Given the description of an element on the screen output the (x, y) to click on. 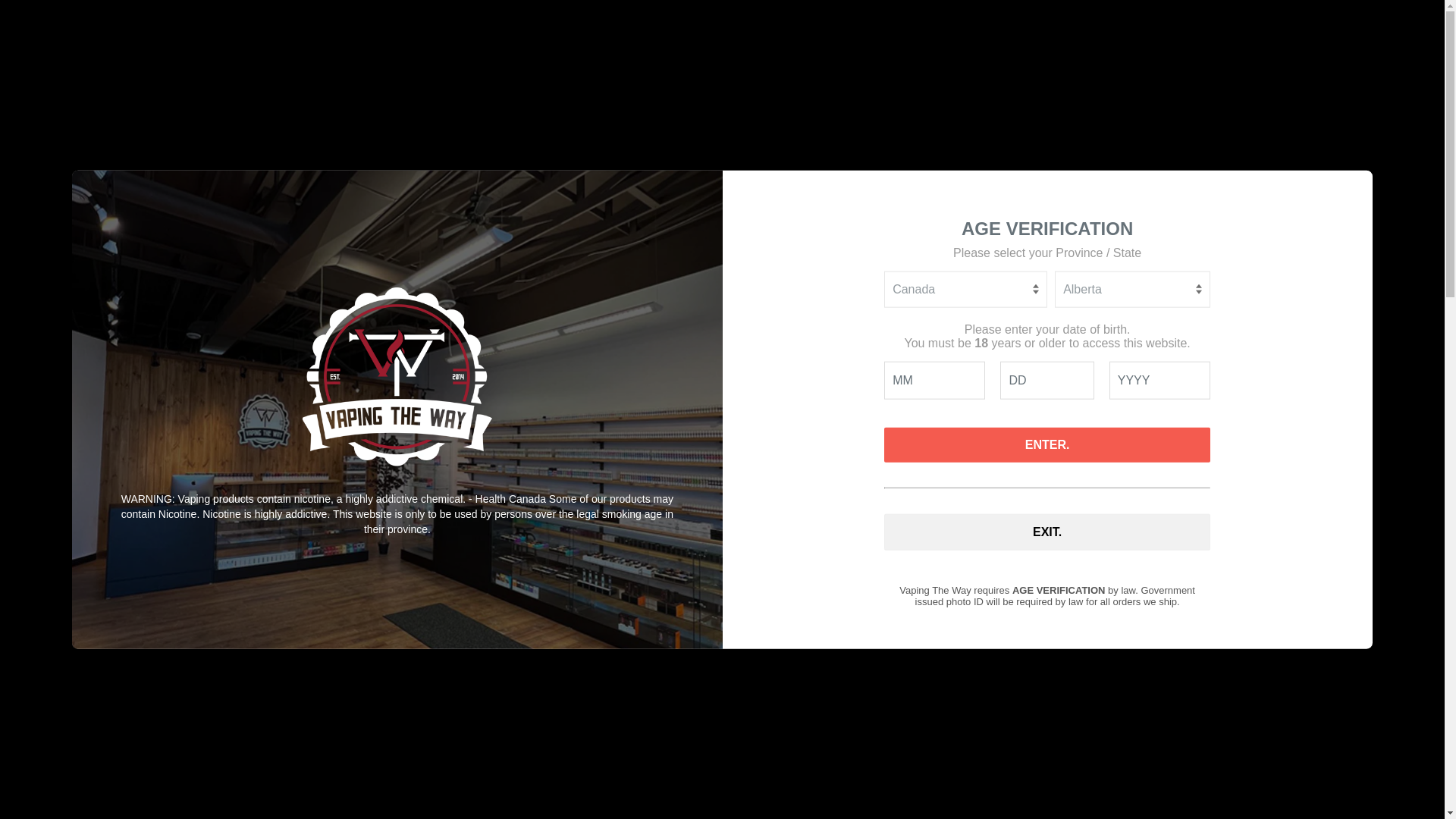
20mg (785, 451)
Increase quantity by 1 (912, 635)
60ml (842, 367)
ENTER. (1046, 444)
Moonsta (793, 534)
Decrease quantity by 1 (831, 635)
1 (871, 635)
0mg (845, 451)
3mg (901, 451)
30ml (784, 367)
